Given the description of an element on the screen output the (x, y) to click on. 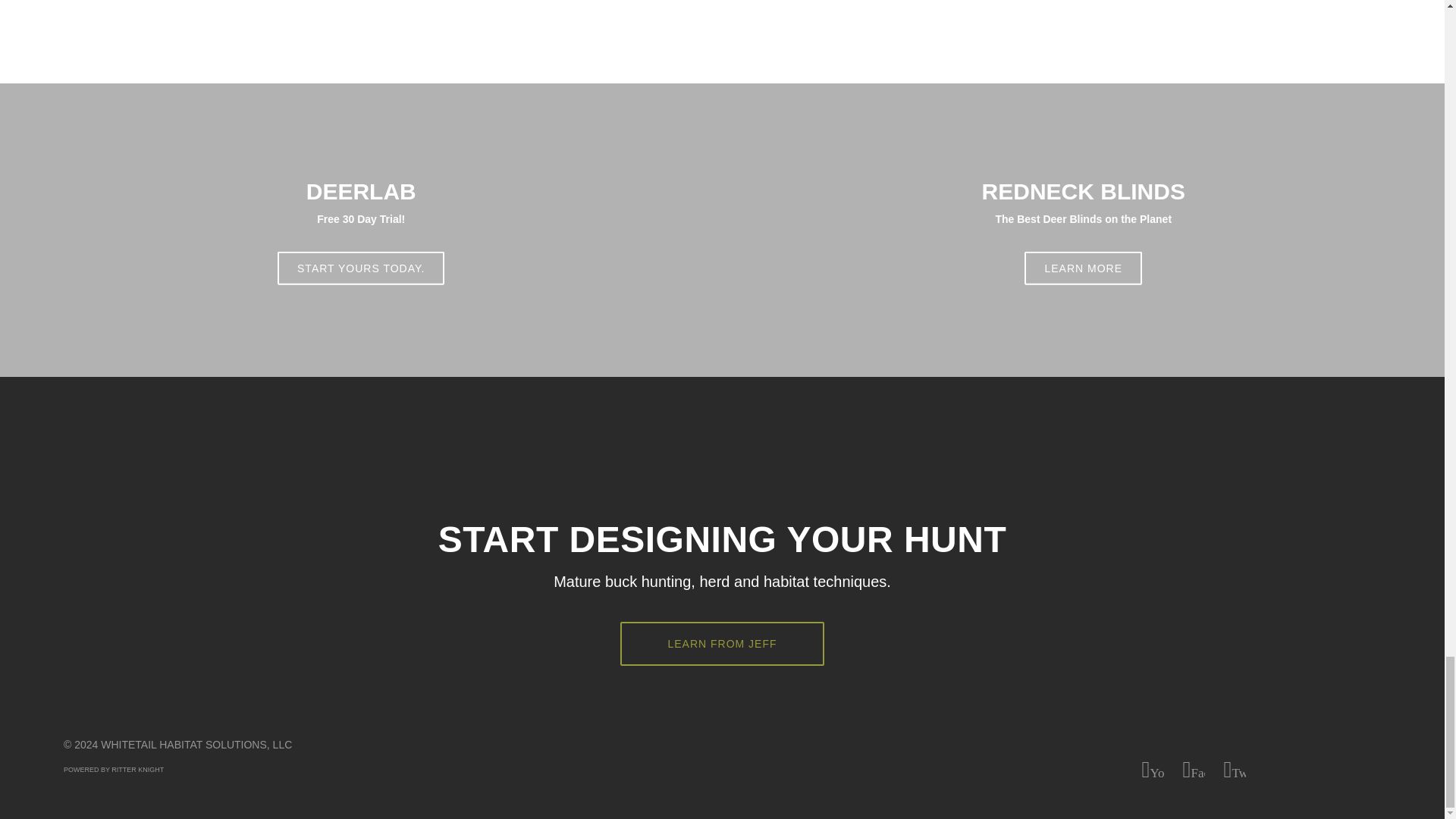
START YOURS TODAY. (361, 268)
Facebook (1193, 769)
RITTER KNIGHT (137, 769)
LEARN MORE (1083, 268)
Twitter (1235, 769)
LEARN FROM JEFF (722, 643)
YouTube (1152, 769)
